Given the description of an element on the screen output the (x, y) to click on. 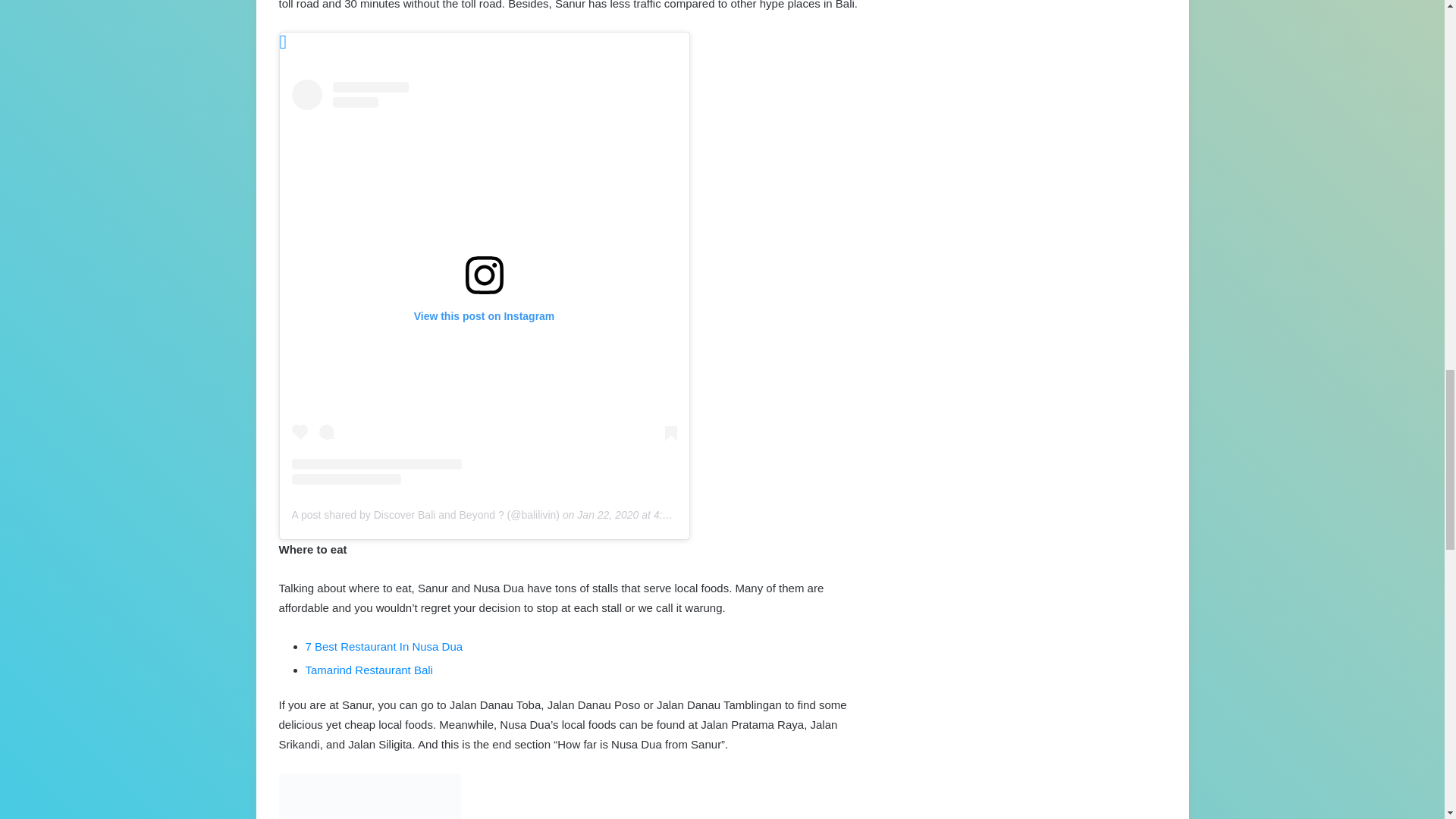
Tamarind Restaurant Bali (368, 668)
7 Best Restaurant In Nusa Dua (383, 645)
